Given the description of an element on the screen output the (x, y) to click on. 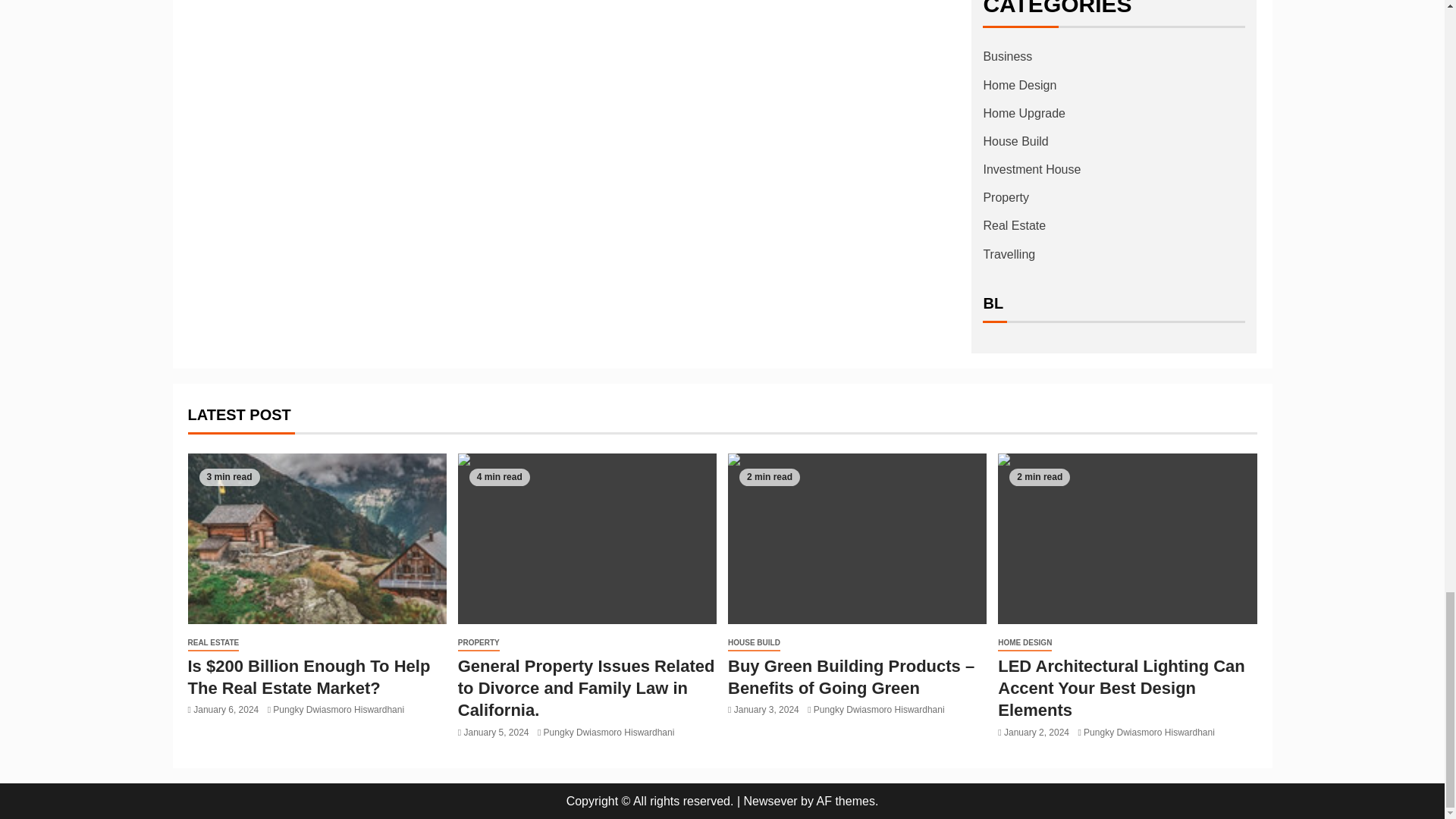
Is 0 Billion Enough To Help The Real Estate Market? (316, 538)
